Given the description of an element on the screen output the (x, y) to click on. 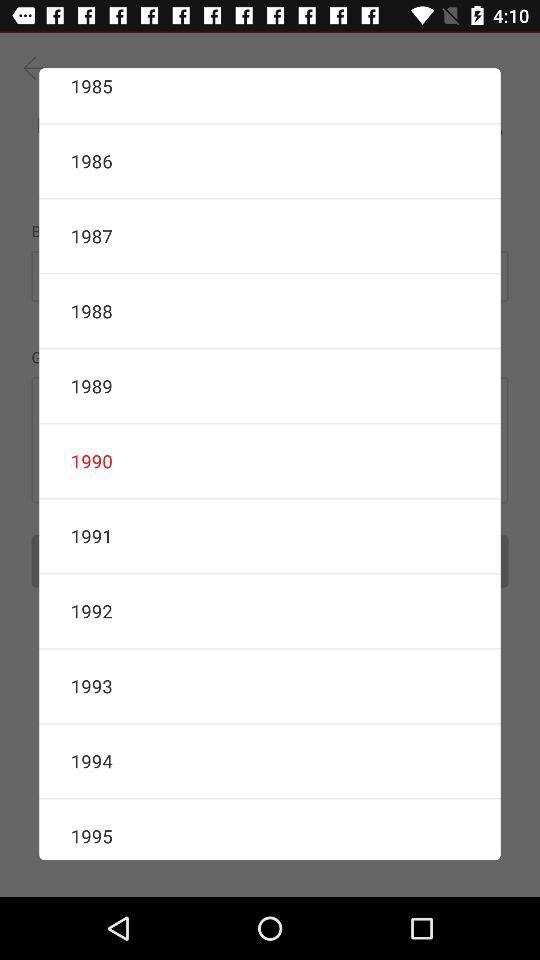
turn off icon below 1988 icon (269, 386)
